Given the description of an element on the screen output the (x, y) to click on. 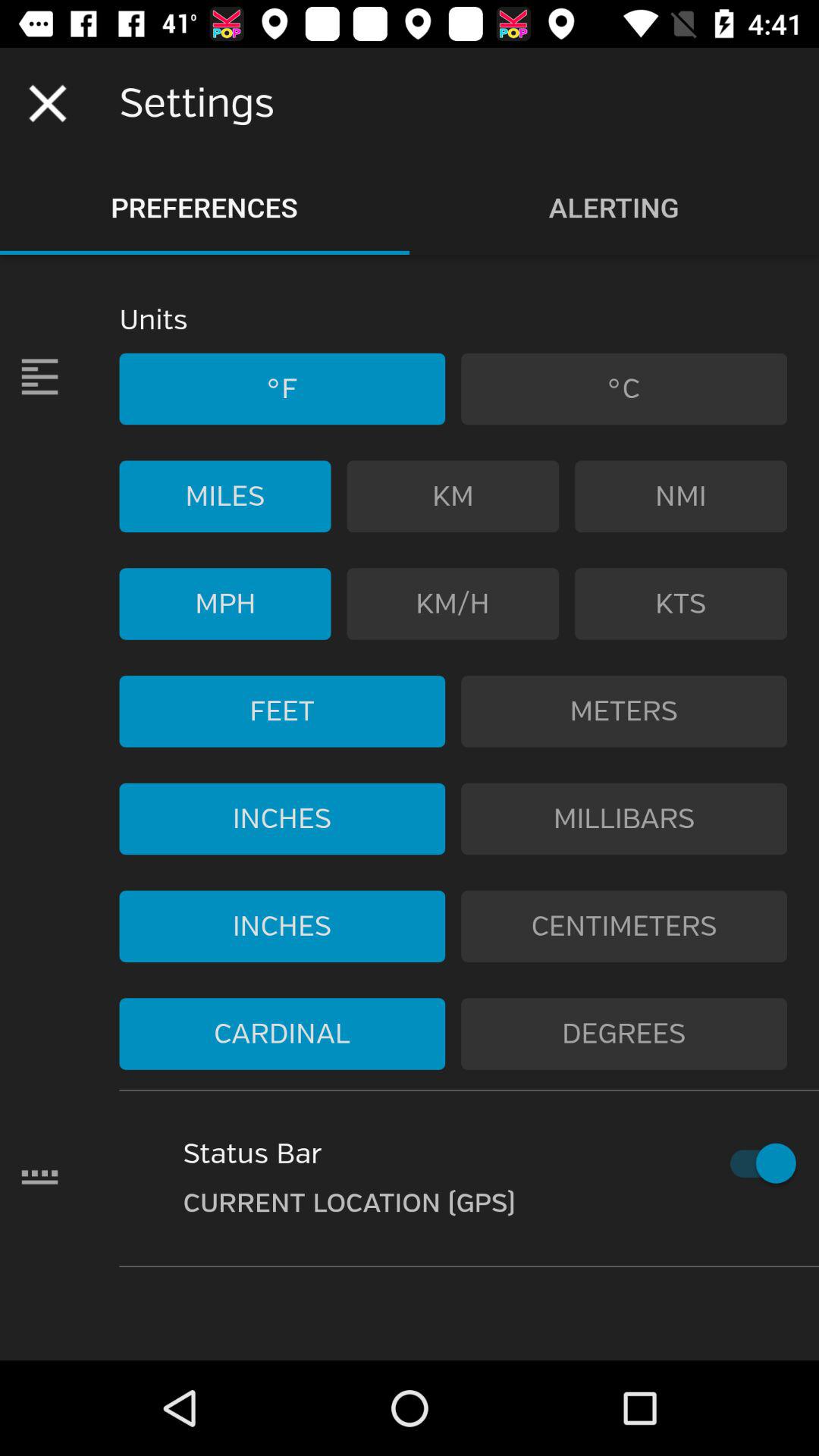
toggle current gps location (755, 1163)
